Given the description of an element on the screen output the (x, y) to click on. 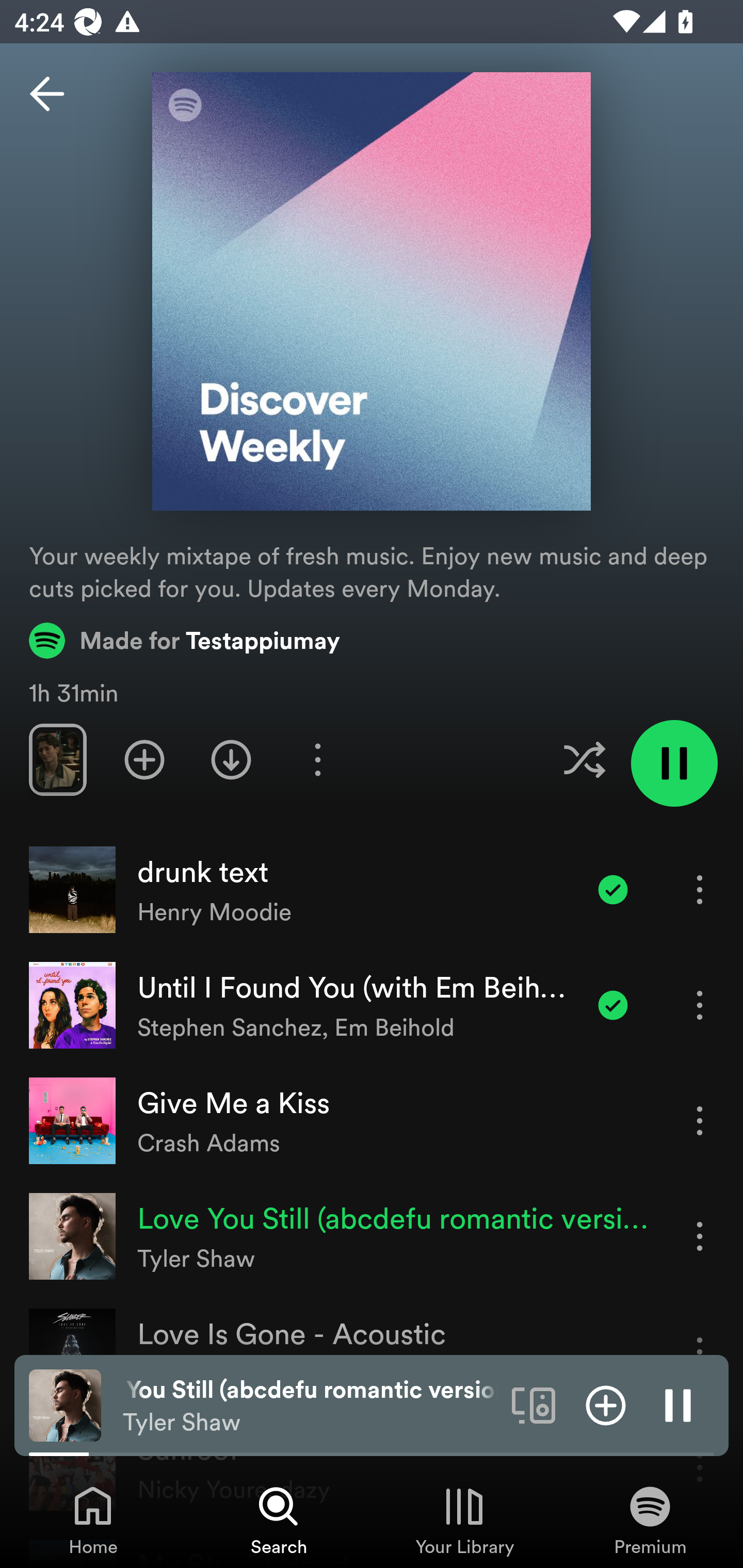
Back (46, 93)
Made for Testappiumay (184, 640)
Swipe through previews of tracks in this playlist. (57, 759)
Add playlist to Your Library (144, 759)
Download (230, 759)
More options for playlist Discover Weekly (317, 759)
Enable shuffle for this playlist (583, 759)
Pause playlist (674, 763)
Item added (612, 889)
More options for song drunk text (699, 889)
Item added (612, 1004)
More options for song Give Me a Kiss (699, 1120)
The cover art of the currently playing track (64, 1404)
Connect to a device. Opens the devices menu (533, 1404)
Add item (605, 1404)
Pause (677, 1404)
Home, Tab 1 of 4 Home Home (92, 1519)
Search, Tab 2 of 4 Search Search (278, 1519)
Your Library, Tab 3 of 4 Your Library Your Library (464, 1519)
Premium, Tab 4 of 4 Premium Premium (650, 1519)
